Given the description of an element on the screen output the (x, y) to click on. 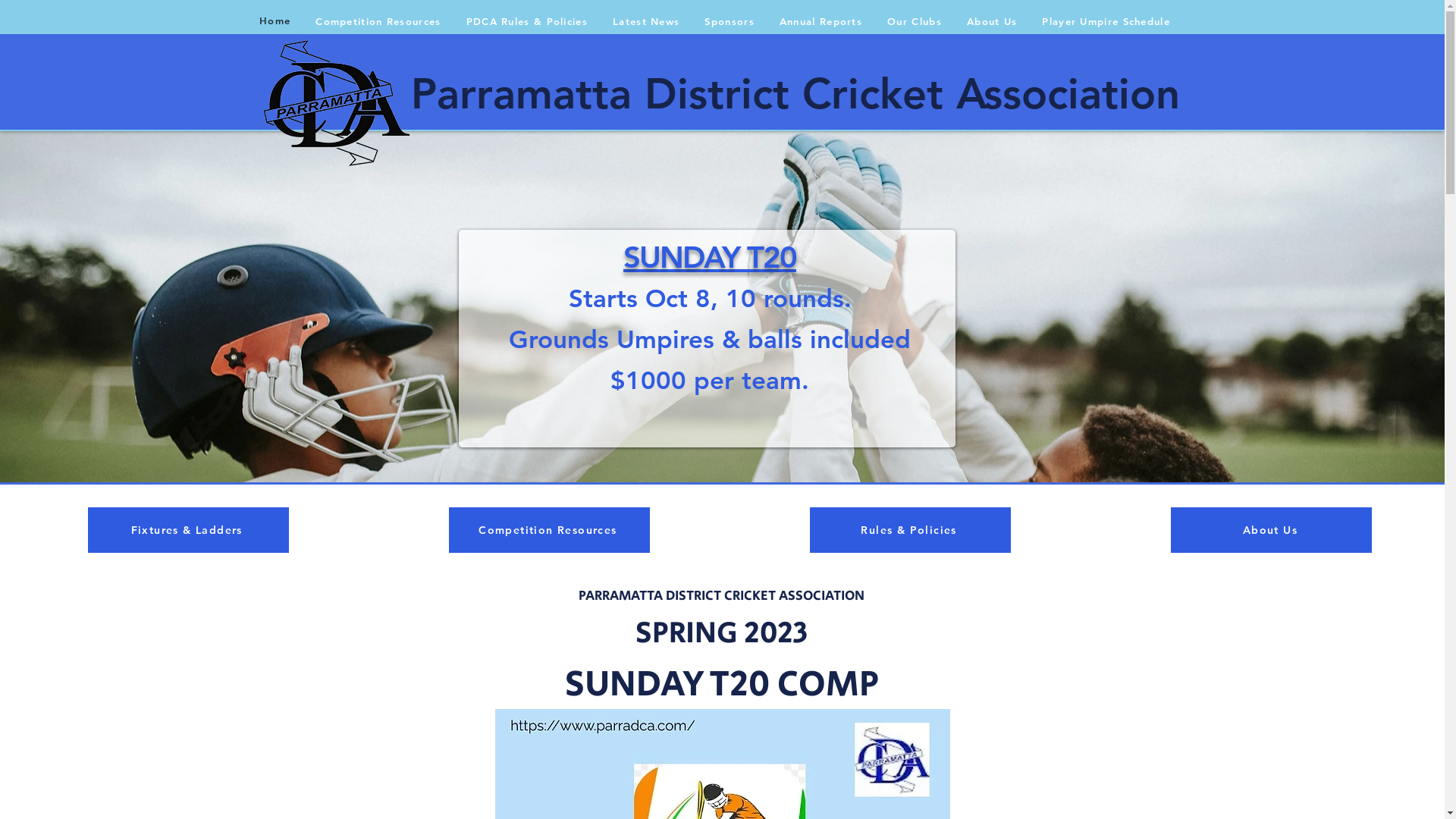
Competition Resources Element type: text (378, 20)
PDCA Rules & Policies Element type: text (526, 20)
Latest News Element type: text (646, 20)
About Us Element type: text (991, 20)
Annual Reports Element type: text (820, 20)
Sponsors Element type: text (729, 20)
Player Umpire Schedule Element type: text (1106, 20)
Competition Resources Element type: text (548, 529)
Rules & Policies Element type: text (909, 529)
download.jpg Element type: hover (336, 102)
Fixtures & Ladders Element type: text (187, 529)
Home Element type: text (274, 20)
Our Clubs Element type: text (914, 20)
About Us Element type: text (1270, 529)
